Given the description of an element on the screen output the (x, y) to click on. 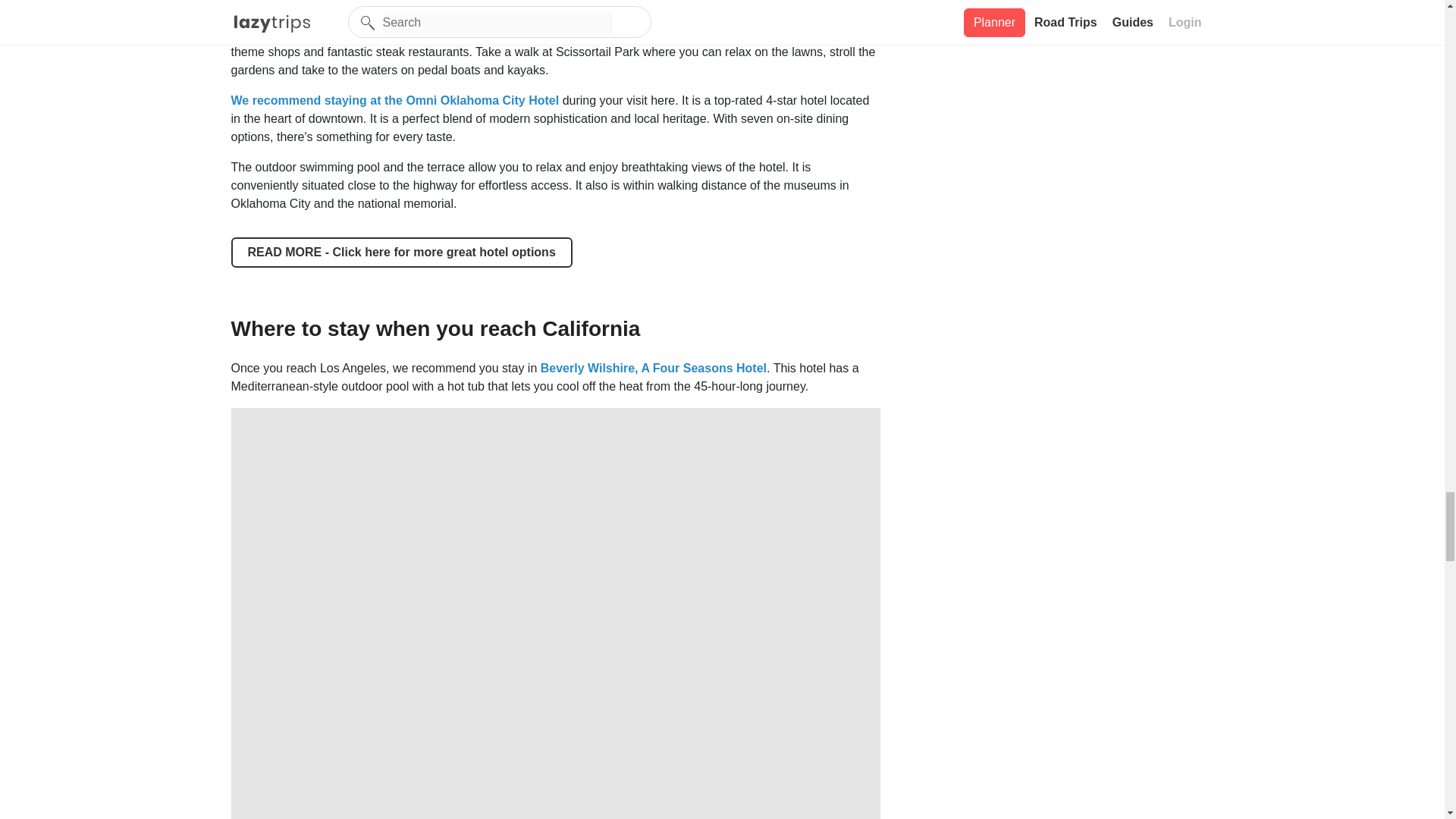
We recommend staying at the Omni Oklahoma City Hotel (396, 100)
READ MORE - Click here for more great hotel options (401, 252)
Beverly Wilshire, A Four Seasons Hotel (653, 367)
